Given the description of an element on the screen output the (x, y) to click on. 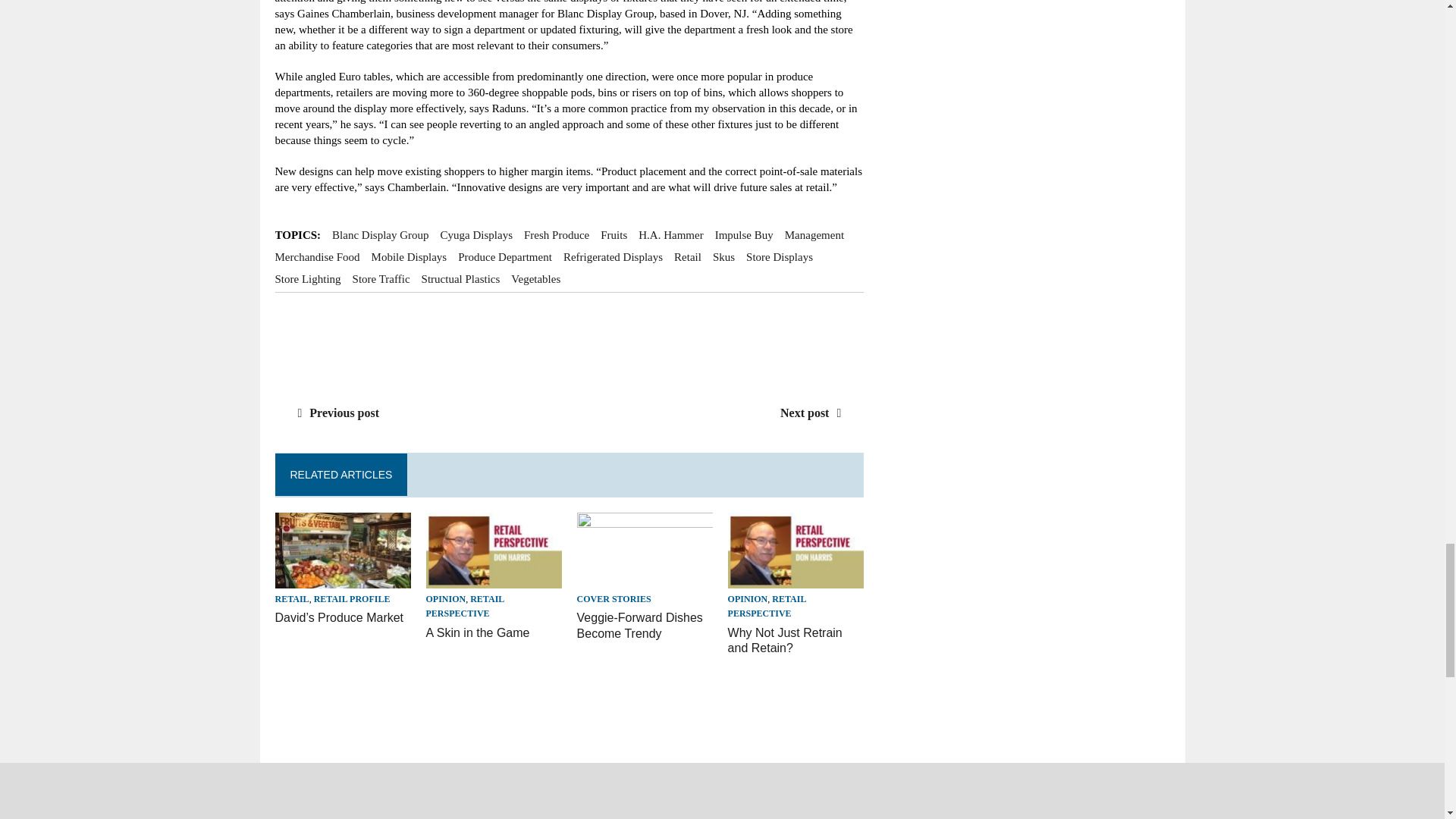
A Skin in the Game (494, 578)
Veggie-Forward Dishes Become Trendy (644, 578)
3rd party ad content (569, 341)
Why Not Just Retrain and Retain? (796, 578)
Veggie-Forward Dishes Become Trendy (639, 624)
Why Not Just Retrain and Retain? (785, 640)
A Skin in the Game (477, 632)
3rd party ad content (551, 713)
